Given the description of an element on the screen output the (x, y) to click on. 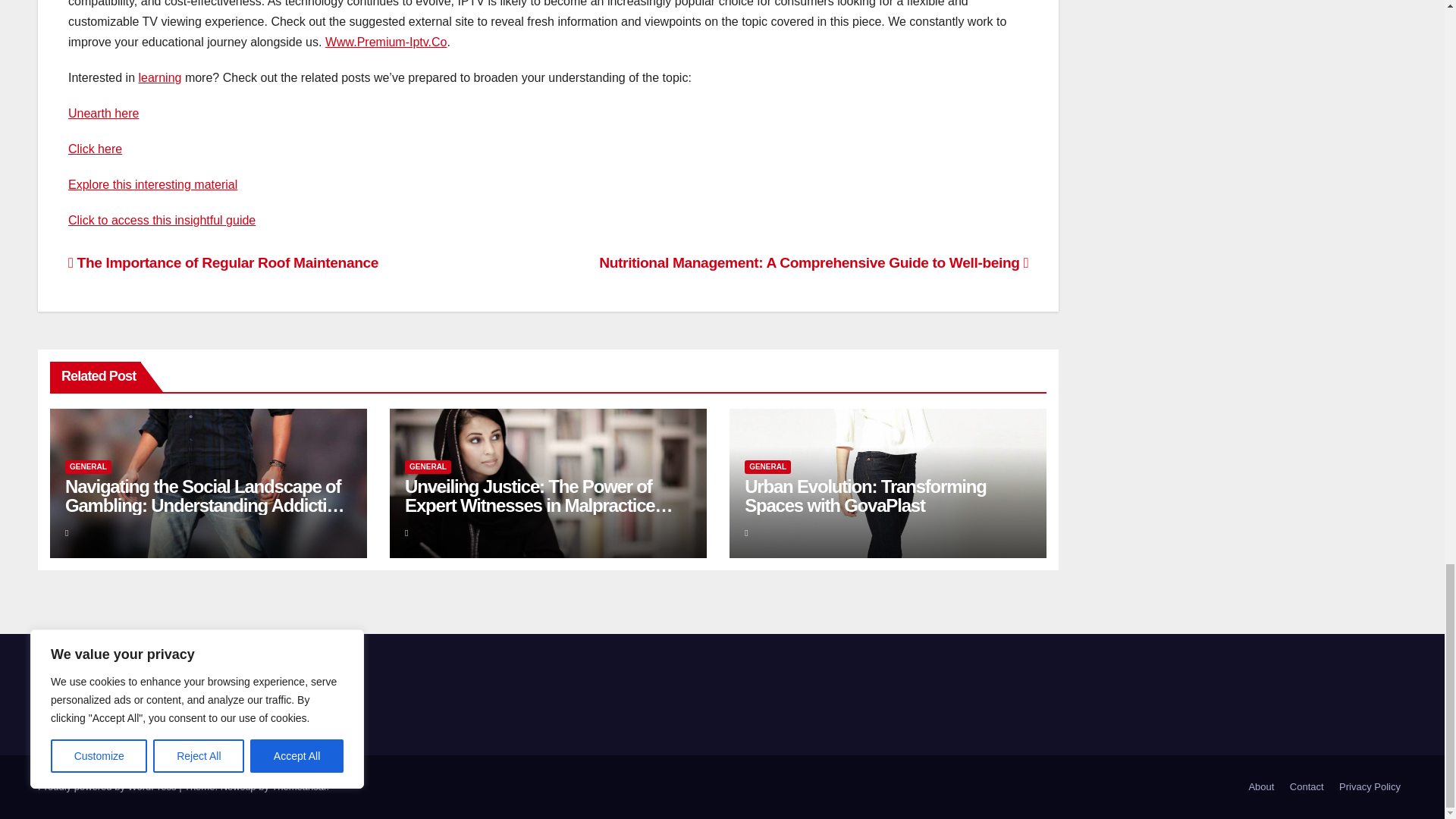
Explore this interesting material (152, 184)
Nutritional Management: A Comprehensive Guide to Well-being (812, 262)
Privacy Policy (1369, 786)
Unearth here (103, 113)
learning (159, 77)
Click here (95, 148)
